Given the description of an element on the screen output the (x, y) to click on. 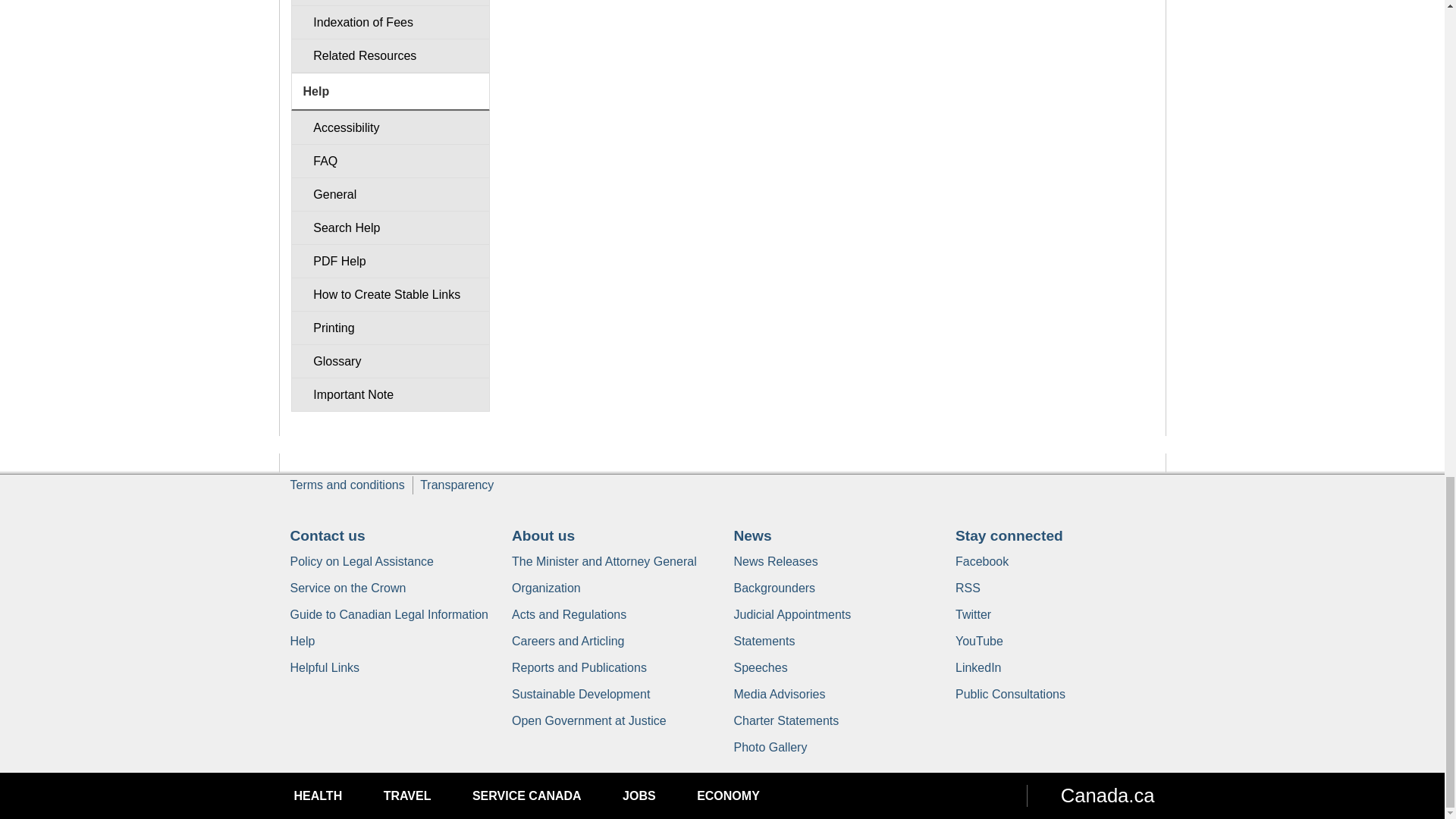
Indexation of Fees (390, 21)
General Help (390, 194)
Related Resources (390, 55)
Printing Help (390, 327)
Accessibility Help (390, 127)
Frequently Asked Questions (390, 161)
Helpful links (324, 667)
Consolidated Index of Statutory Instruments (390, 2)
